Given the description of an element on the screen output the (x, y) to click on. 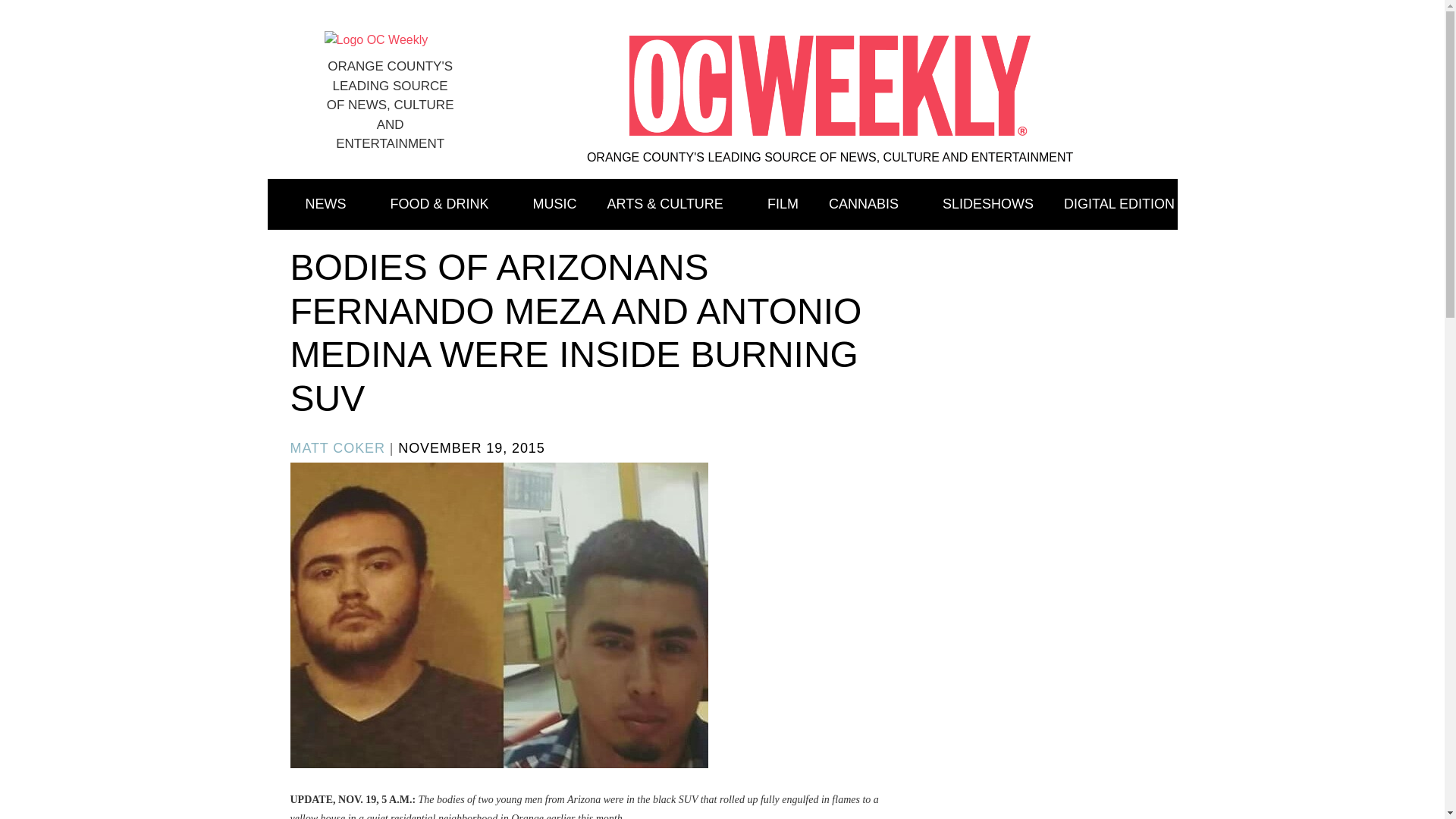
SLIDESHOWS (987, 204)
FILM (782, 204)
News (331, 204)
DIGITAL EDITION (1118, 204)
MUSIC (555, 204)
CANNABIS (870, 204)
NEWS (331, 204)
OC Weekly (376, 39)
